Given the description of an element on the screen output the (x, y) to click on. 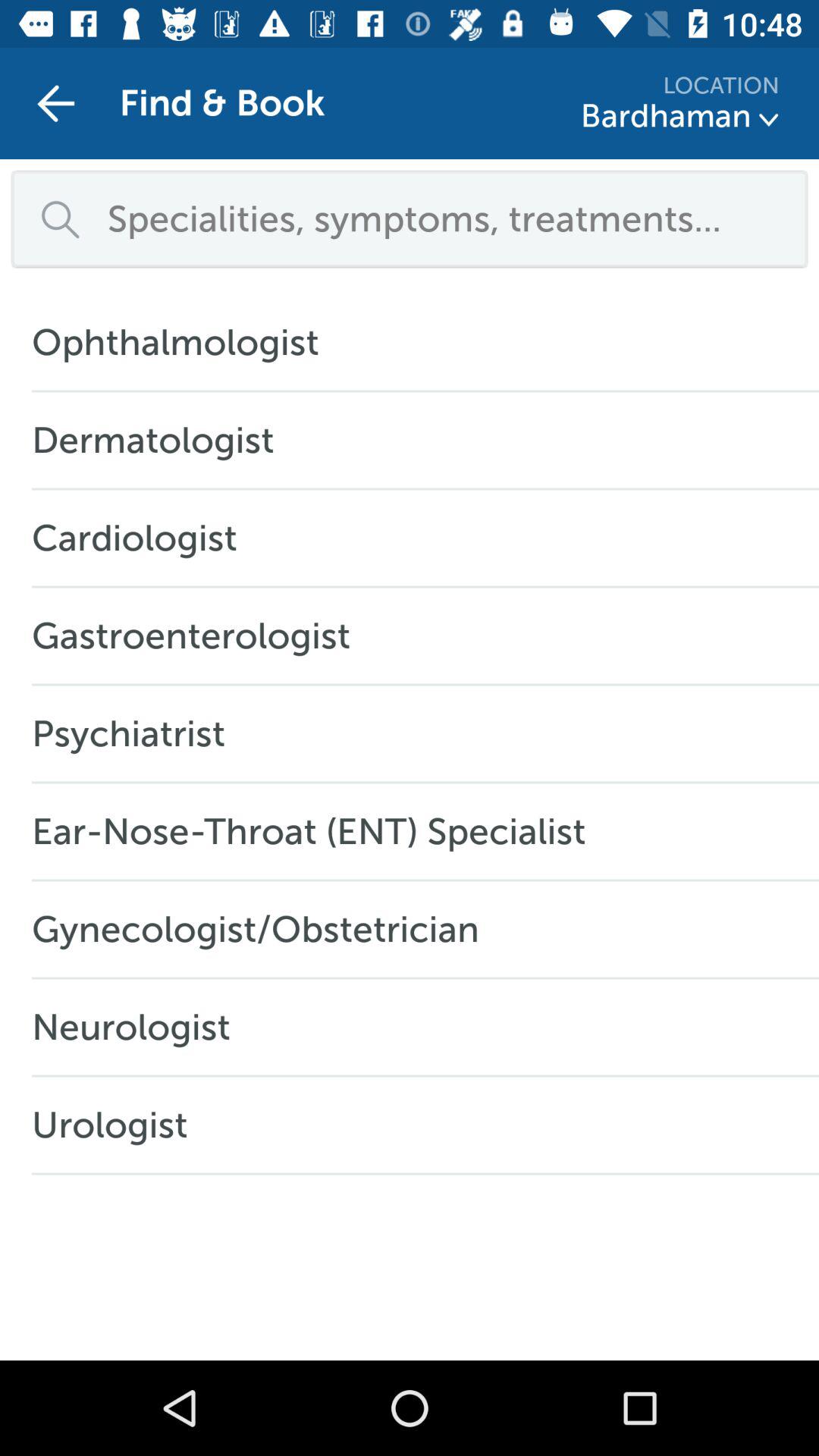
jump until the dermatologist (160, 439)
